Given the description of an element on the screen output the (x, y) to click on. 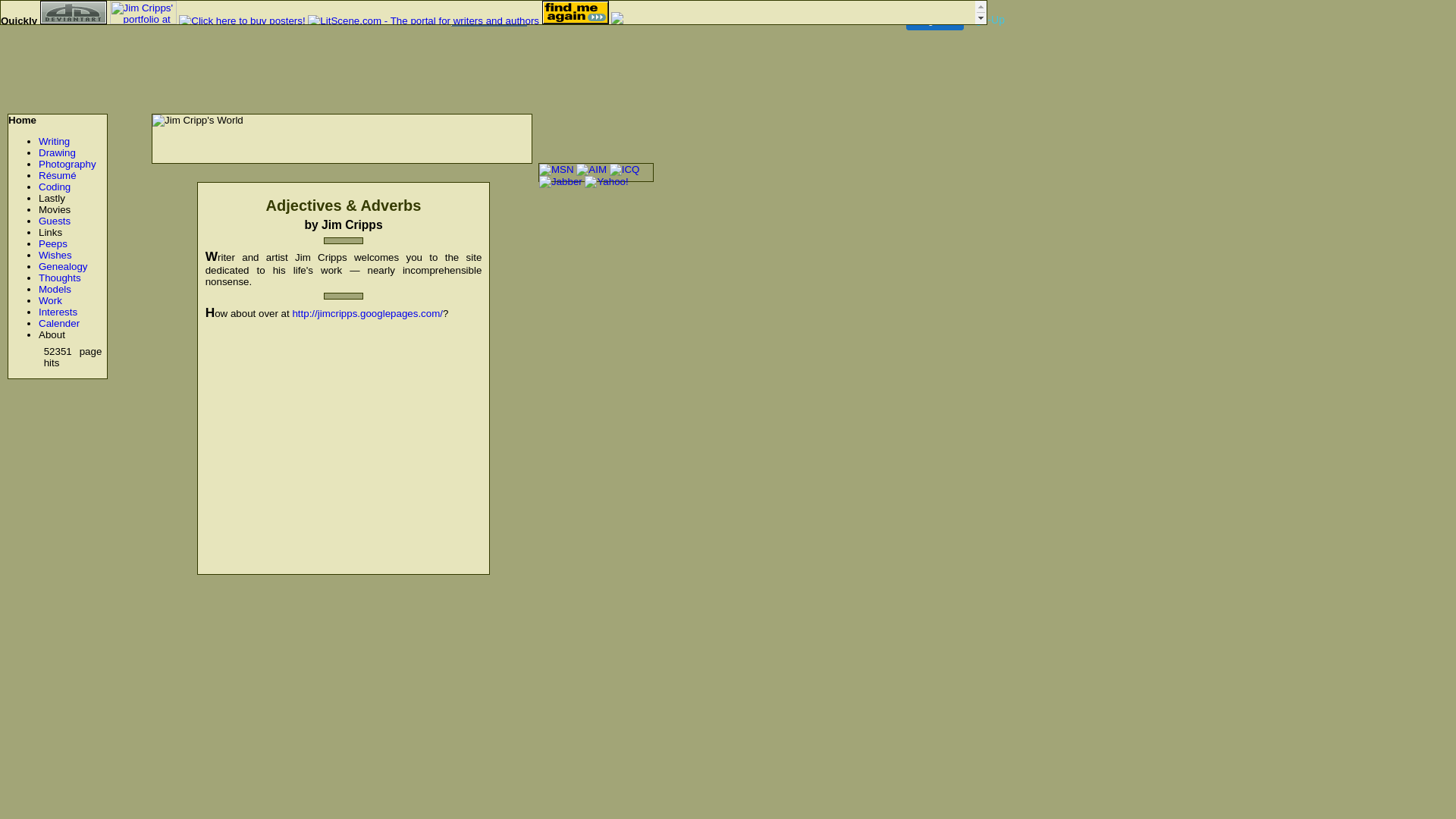
Sign In Element type: text (934, 19)
http://jimcripps.googlepages.com/ Element type: text (366, 313)
Sign-Up Element type: text (985, 19)
Peeps Element type: text (52, 243)
Models Element type: text (54, 288)
Drawing Element type: text (56, 152)
click to add Jim to your 30 Boxes buddy list Element type: hover (617, 20)
Photography Element type: text (67, 163)
Thoughts Element type: text (59, 277)
Wishes Element type: text (55, 254)
Calender Element type: text (58, 323)
Work Element type: text (50, 300)
Writing Element type: text (53, 141)
Interests Element type: text (57, 311)
Genealogy Element type: text (62, 266)
Coding Element type: text (54, 186)
Guests Element type: text (54, 220)
Jim Cripps' portfolio at Writing.com Element type: hover (142, 12)
